Given the description of an element on the screen output the (x, y) to click on. 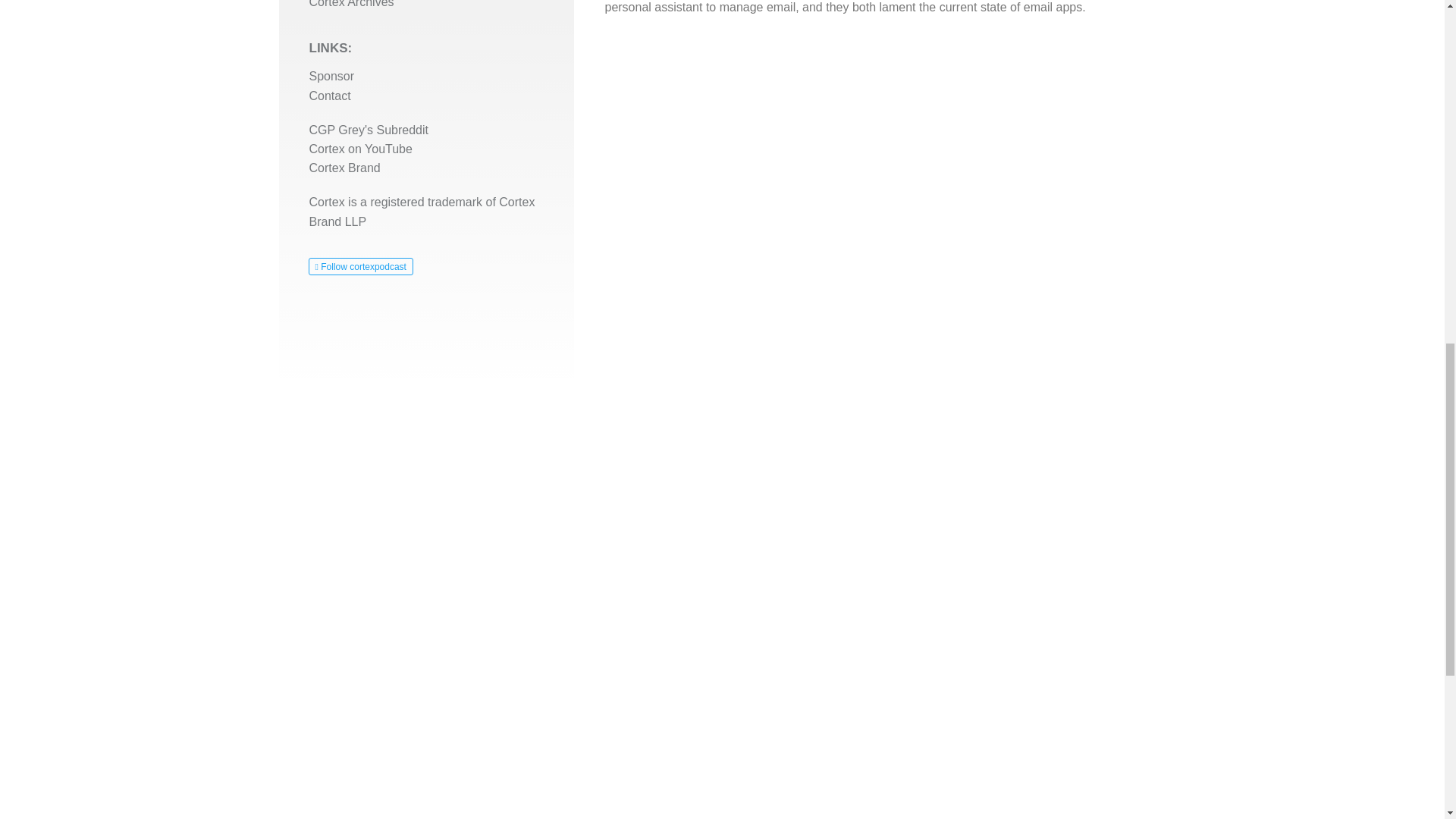
Cortex Brand (344, 167)
CGP Grey's Subreddit (368, 129)
Sponsor (331, 75)
Cortex on YouTube (360, 148)
Cortex Archives (351, 4)
Contact (329, 95)
